Given the description of an element on the screen output the (x, y) to click on. 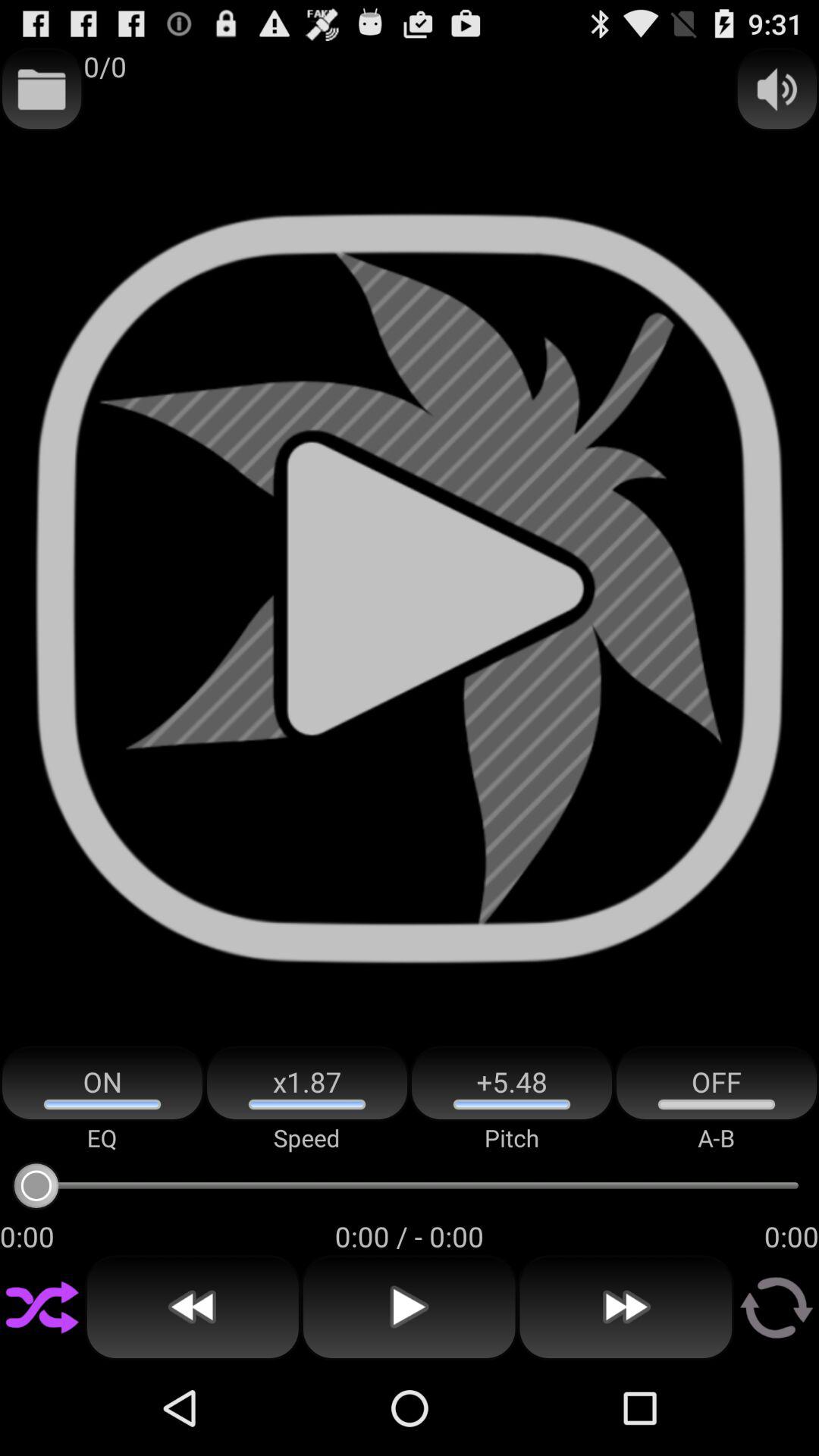
turn on the item to the right of +5.48 icon (716, 1083)
